Given the description of an element on the screen output the (x, y) to click on. 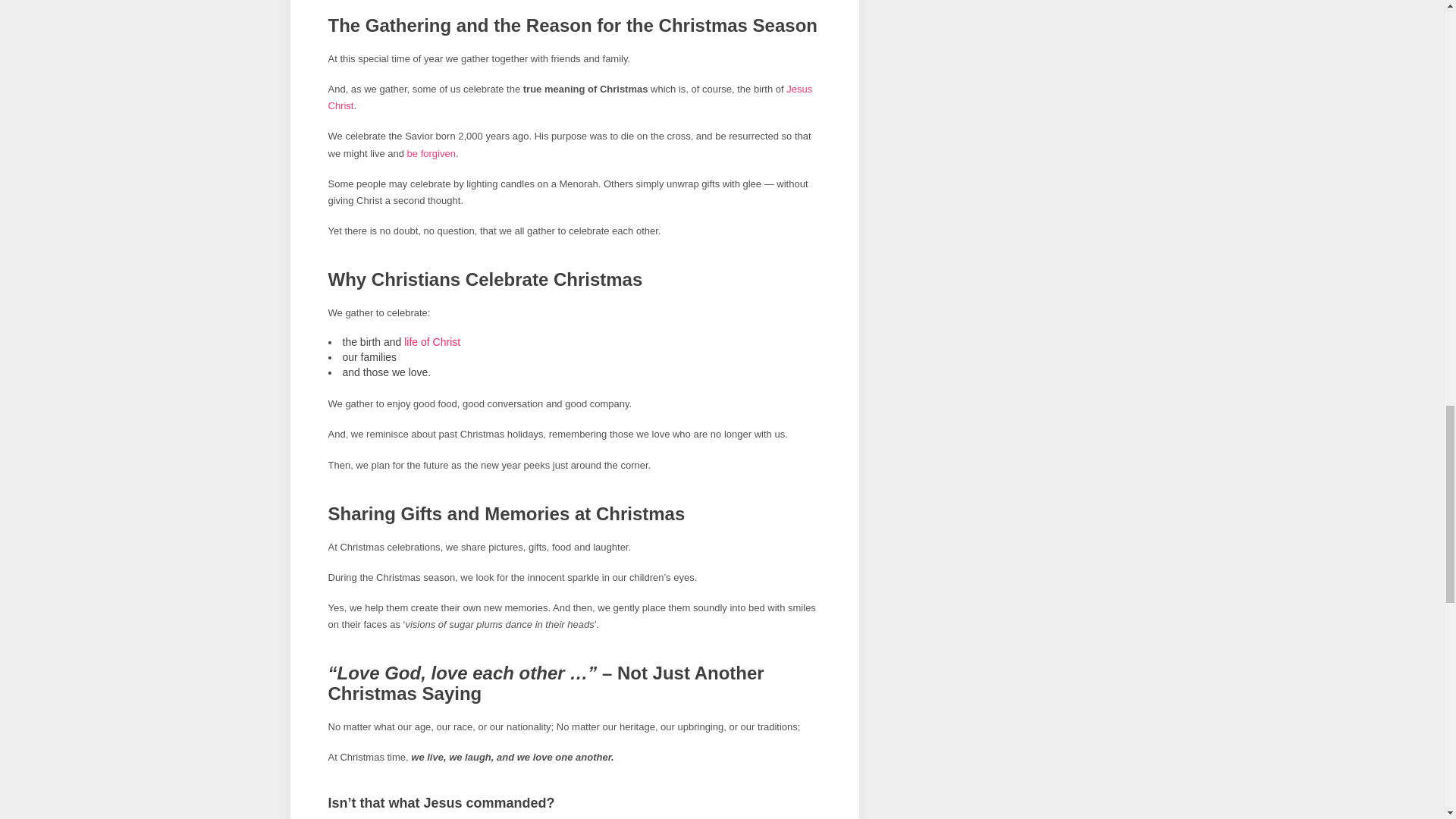
life of Christ (432, 341)
be forgiven (431, 153)
Jesus Christ (569, 97)
